Given the description of an element on the screen output the (x, y) to click on. 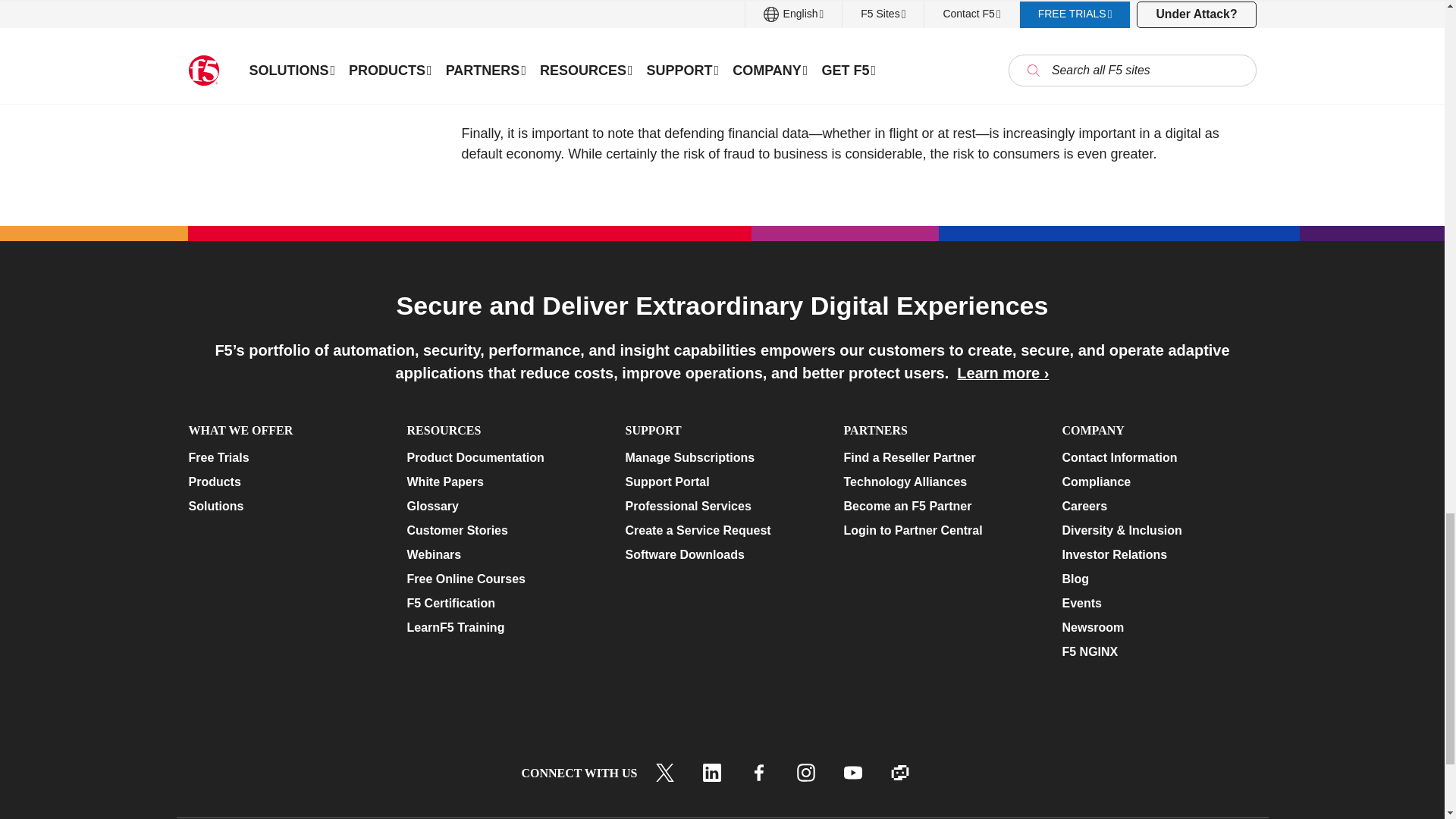
credential stuffing (868, 64)
Products (284, 482)
Free Trials (284, 457)
API security controls baked into the API gateway (1003, 92)
